Given the description of an element on the screen output the (x, y) to click on. 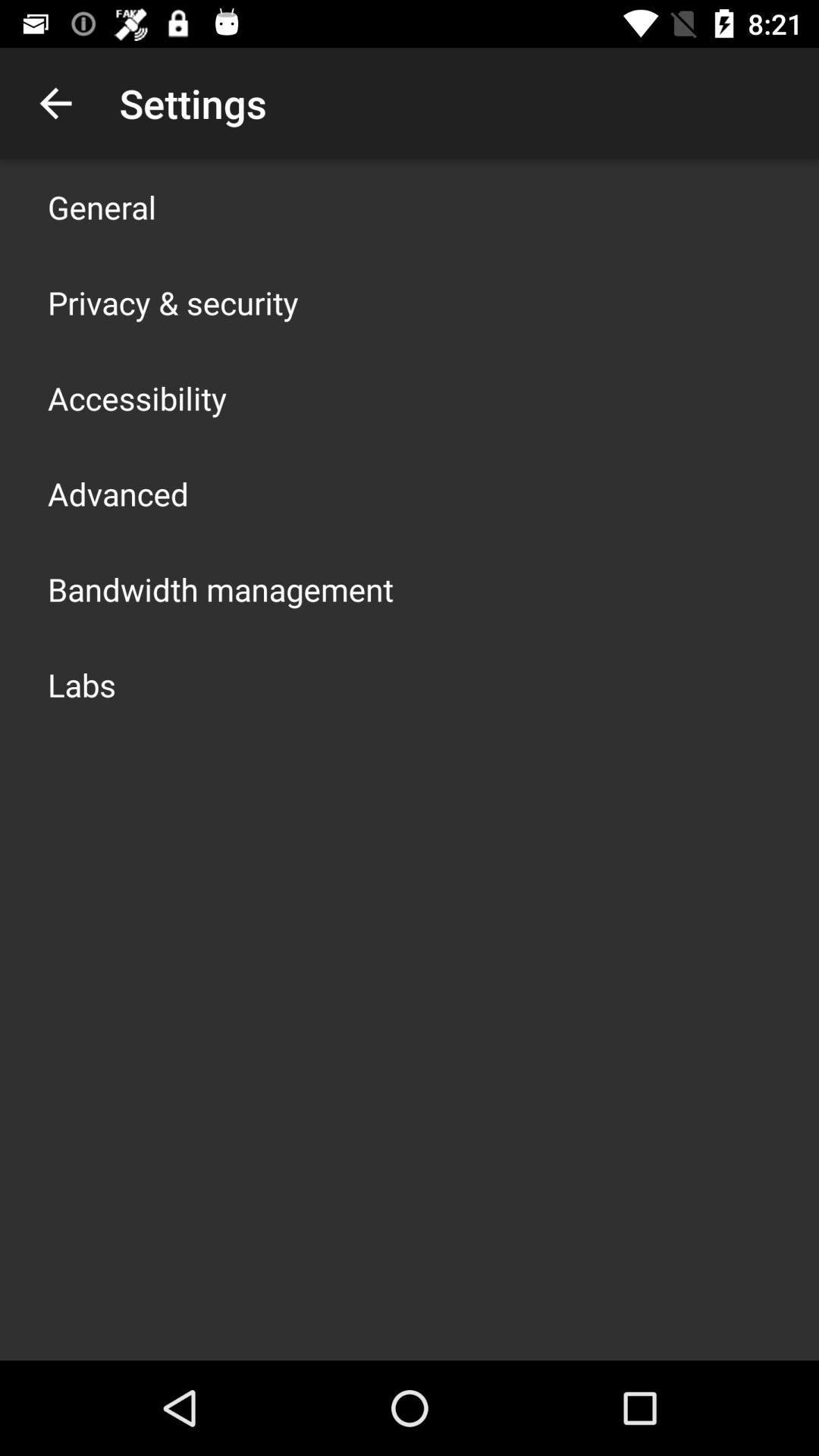
flip until the privacy & security app (172, 302)
